Given the description of an element on the screen output the (x, y) to click on. 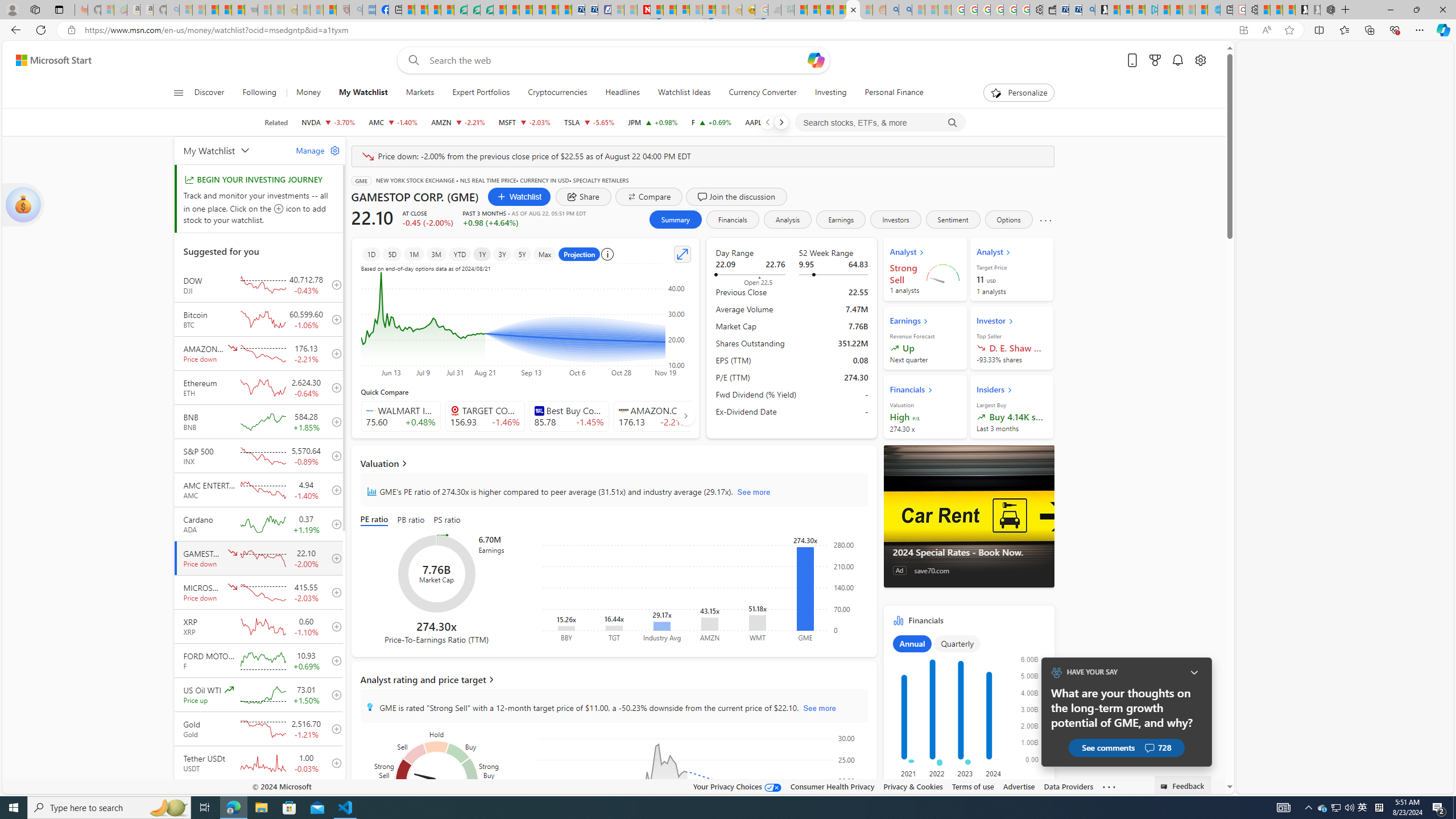
Latest Politics News & Archive | Newsweek.com (643, 9)
Class: chartSvg (966, 712)
Utah sues federal government - Search (905, 9)
share dialog (583, 196)
Watchlist Ideas (684, 92)
